Given the description of an element on the screen output the (x, y) to click on. 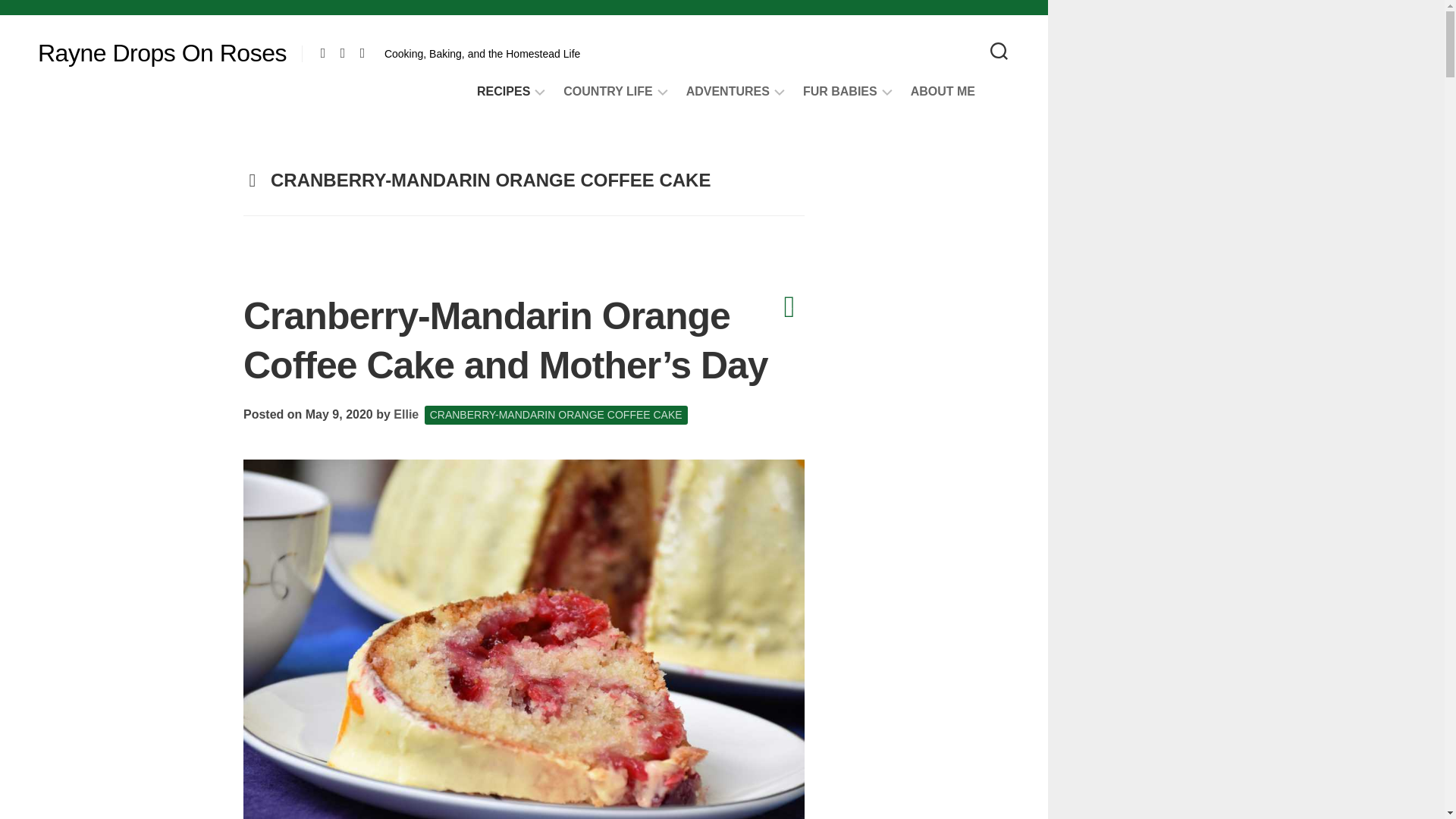
Rayne Drops On Roses (161, 53)
Twitter (342, 52)
Pinterest (322, 52)
RECIPES (503, 90)
Instagram (362, 52)
Posts by Ellie (406, 413)
